Given the description of an element on the screen output the (x, y) to click on. 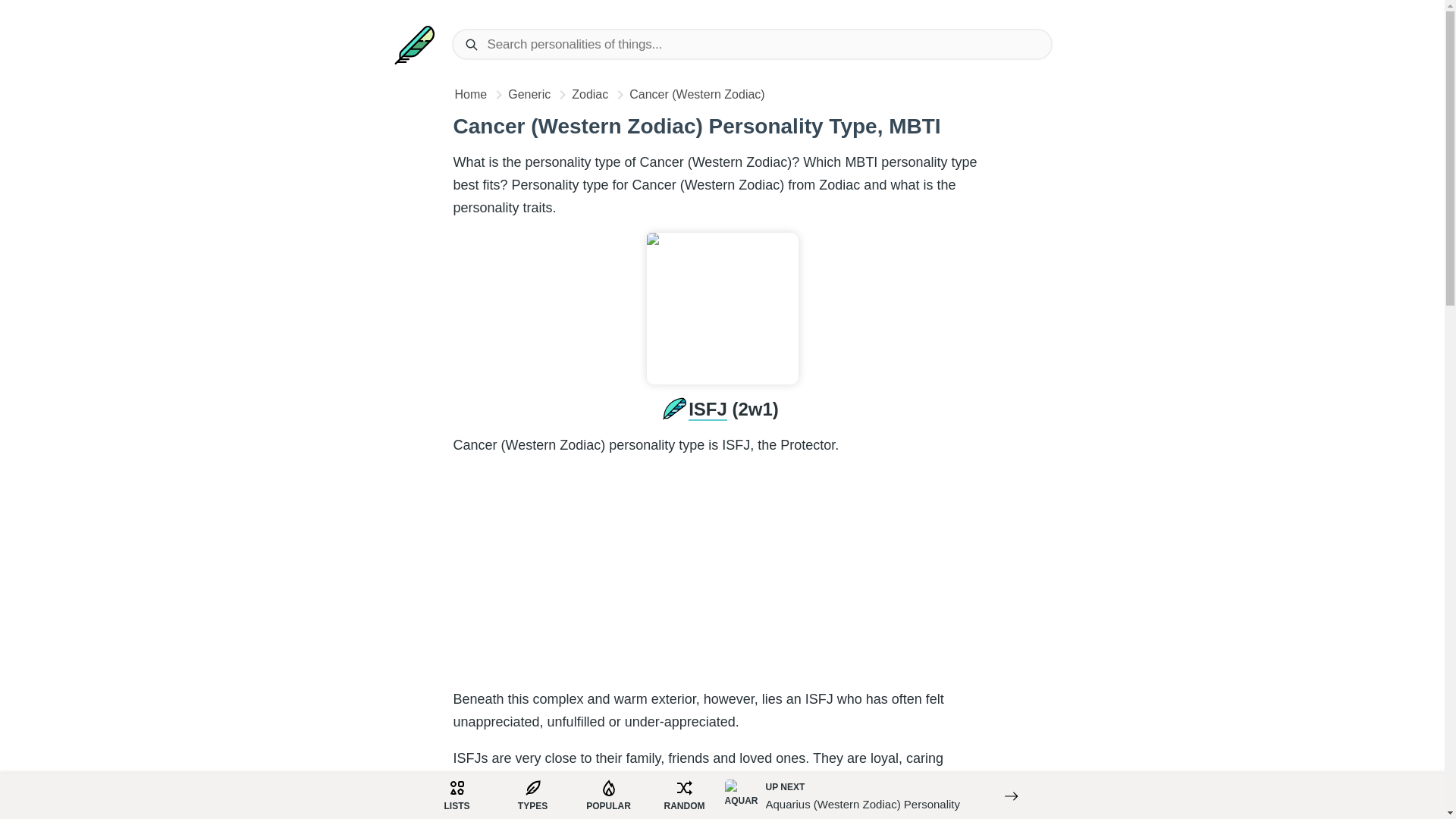
ISFJ (707, 409)
TYPES (532, 795)
Generic (530, 93)
LISTS (457, 795)
POPULAR (608, 795)
RANDOM (684, 795)
Home (472, 93)
Zodiac (591, 93)
Advertisement (721, 576)
